Given the description of an element on the screen output the (x, y) to click on. 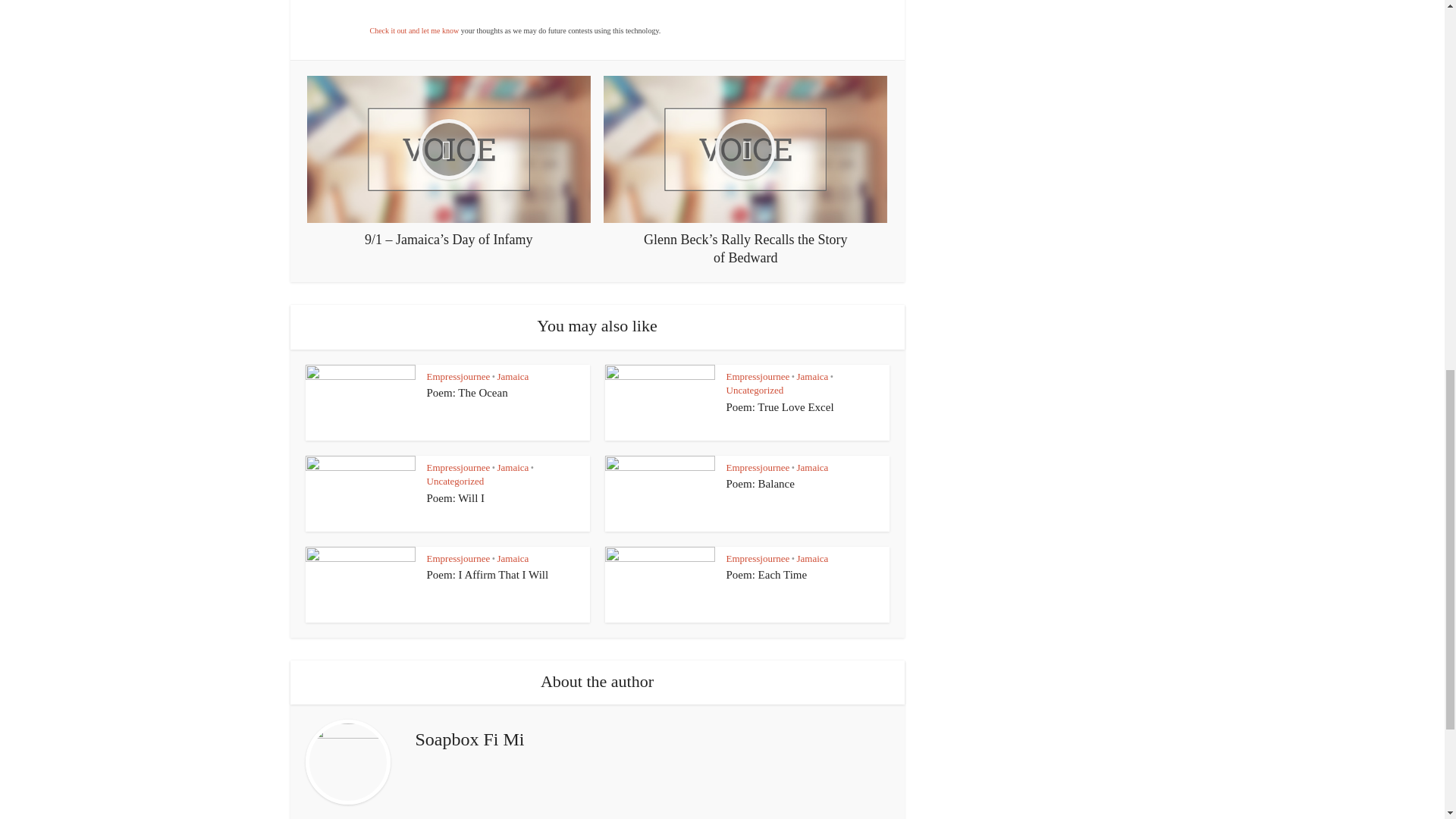
Uncategorized (454, 480)
Empressjournee (457, 376)
Poem: The Ocean (466, 392)
Jamaica (812, 376)
Empressjournee (758, 376)
Empressjournee (457, 467)
Poem: True Love Excel (780, 407)
Poem: Each Time (767, 574)
Jamaica (512, 376)
Poem: I Affirm That I Will (487, 574)
